Given the description of an element on the screen output the (x, y) to click on. 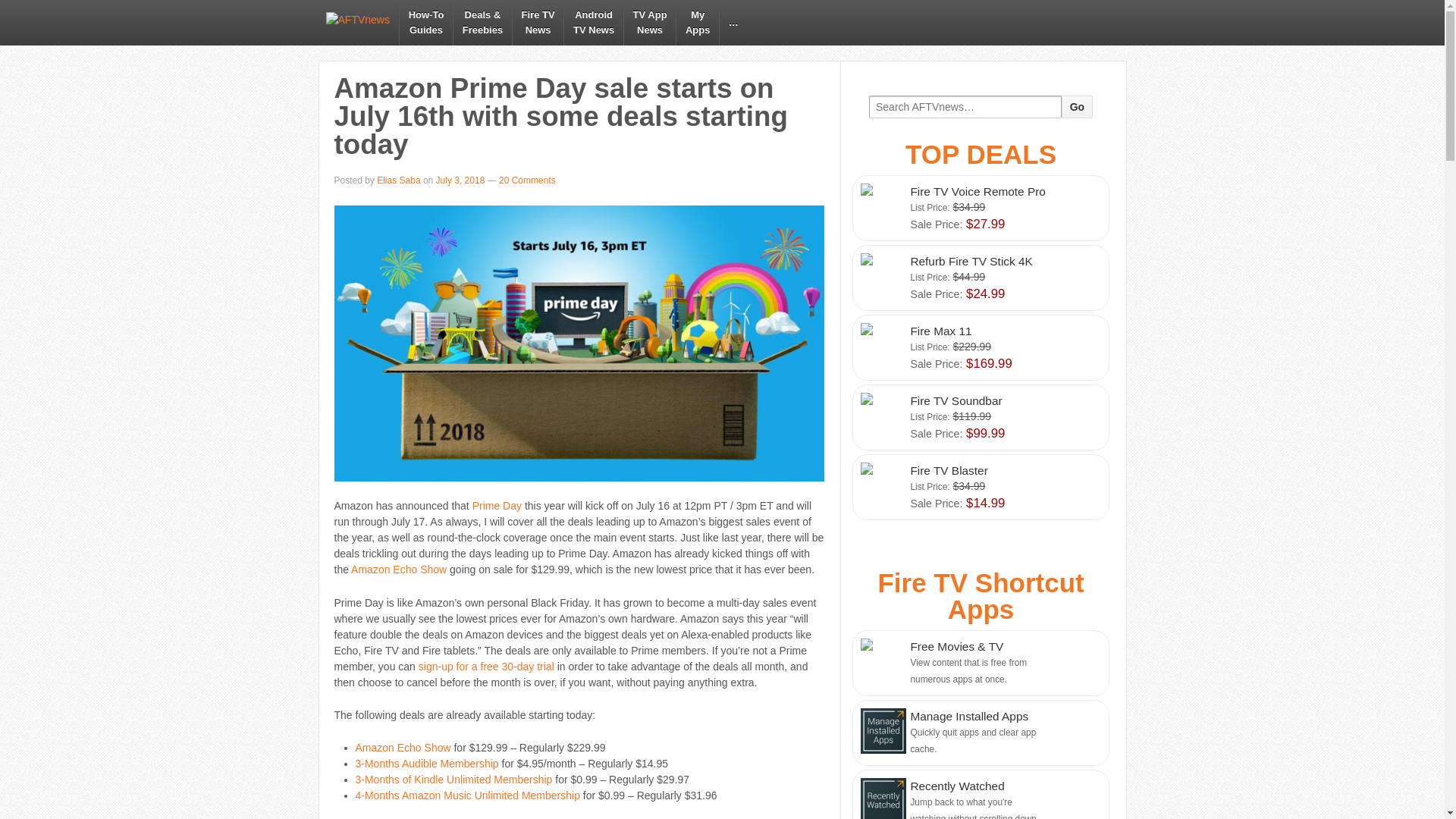
Refurb Fire TV Stick 4K (537, 22)
sign-up for a free 30-day trial (979, 277)
3-Months of Kindle Unlimited Membership (486, 666)
Fire TV Voice Remote Pro (453, 779)
Prime Day (979, 207)
Go (496, 505)
3-Months Audible Membership (1077, 106)
20 Comments (426, 763)
